Given the description of an element on the screen output the (x, y) to click on. 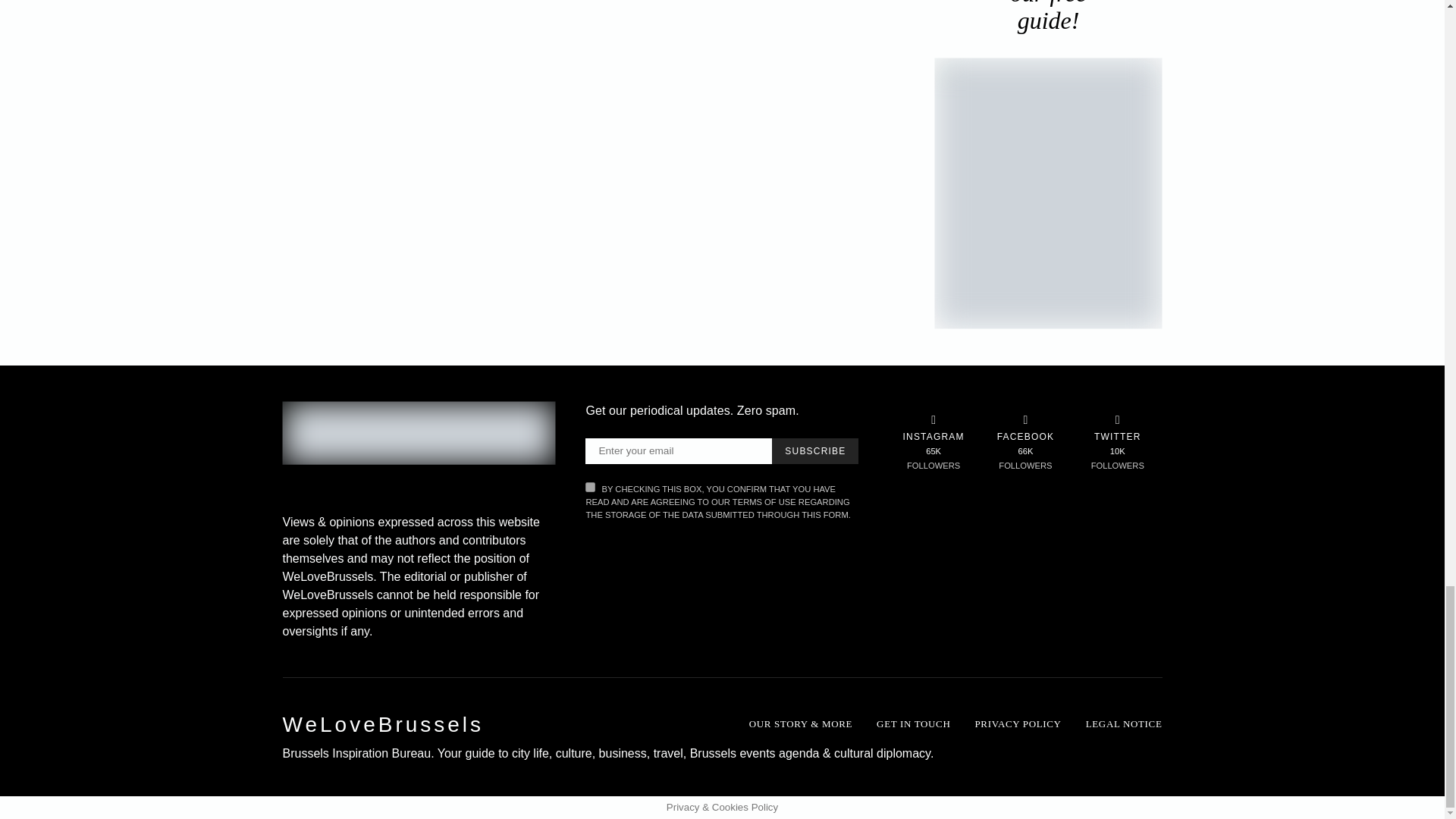
on (590, 487)
